Given the description of an element on the screen output the (x, y) to click on. 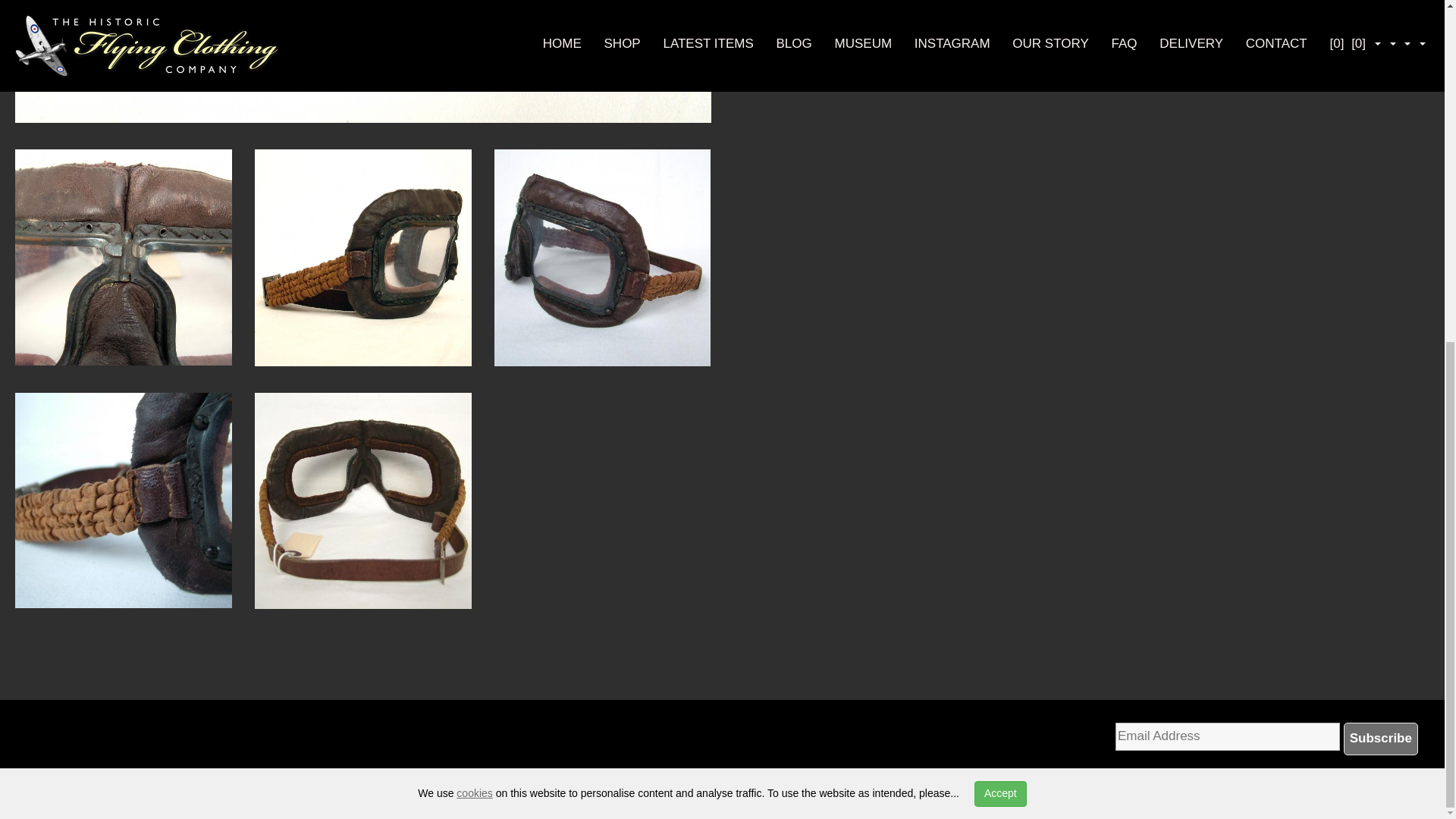
Privacy (699, 786)
Subscribe (1380, 738)
Militaria (83, 786)
